Given the description of an element on the screen output the (x, y) to click on. 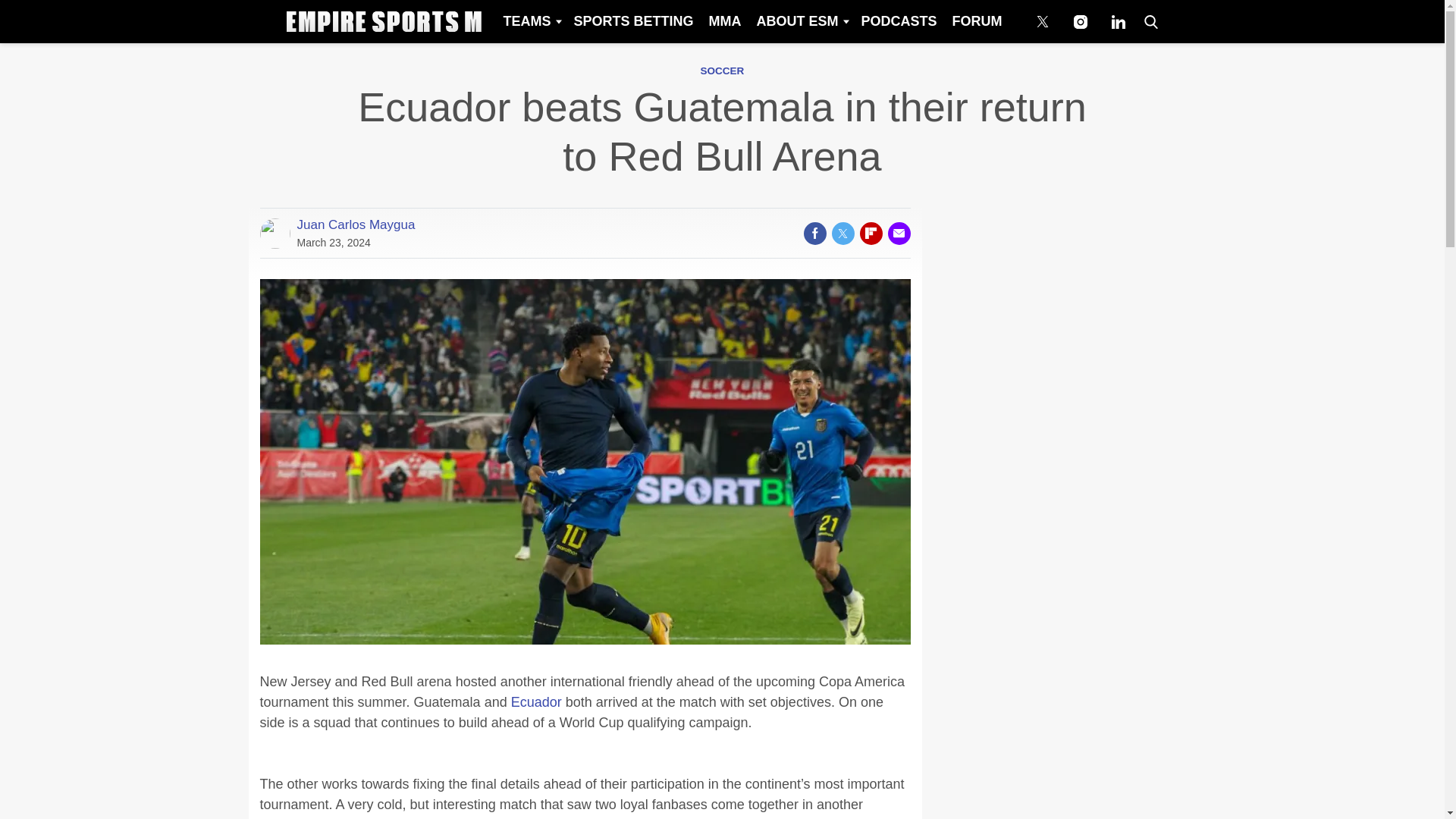
SOCCER (722, 70)
Share on Twitter (842, 232)
SPORTS BETTING (633, 21)
MMA (724, 21)
PODCASTS (898, 21)
Ecuador (536, 702)
Share on Flipboard (871, 232)
ABOUT ESM (800, 21)
TEAMS (530, 21)
Share via Email (898, 232)
Juan Carlos Maygua (355, 225)
Posts by Juan Carlos Maygua (355, 225)
FORUM (977, 21)
Share on Facebook (815, 232)
